Given the description of an element on the screen output the (x, y) to click on. 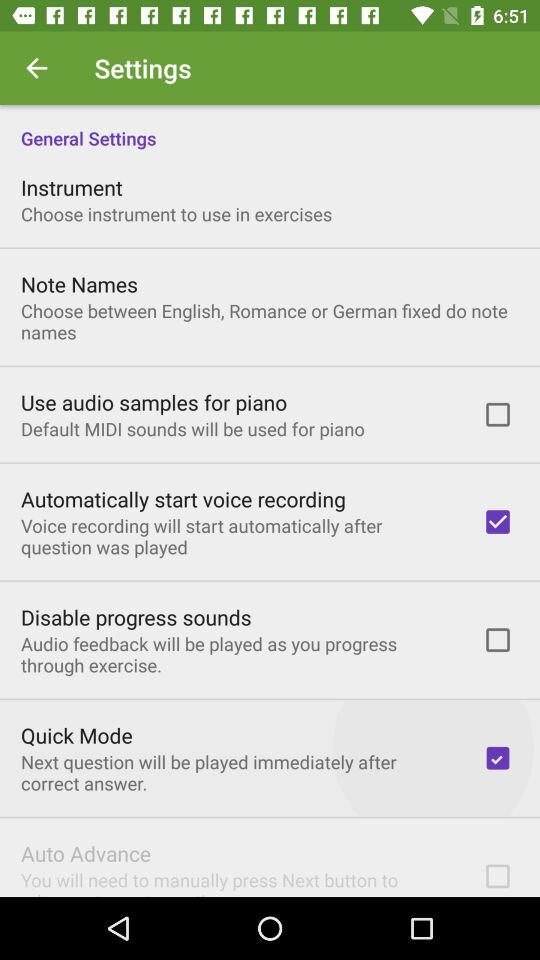
select the icon above the automatically start voice item (192, 428)
